Given the description of an element on the screen output the (x, y) to click on. 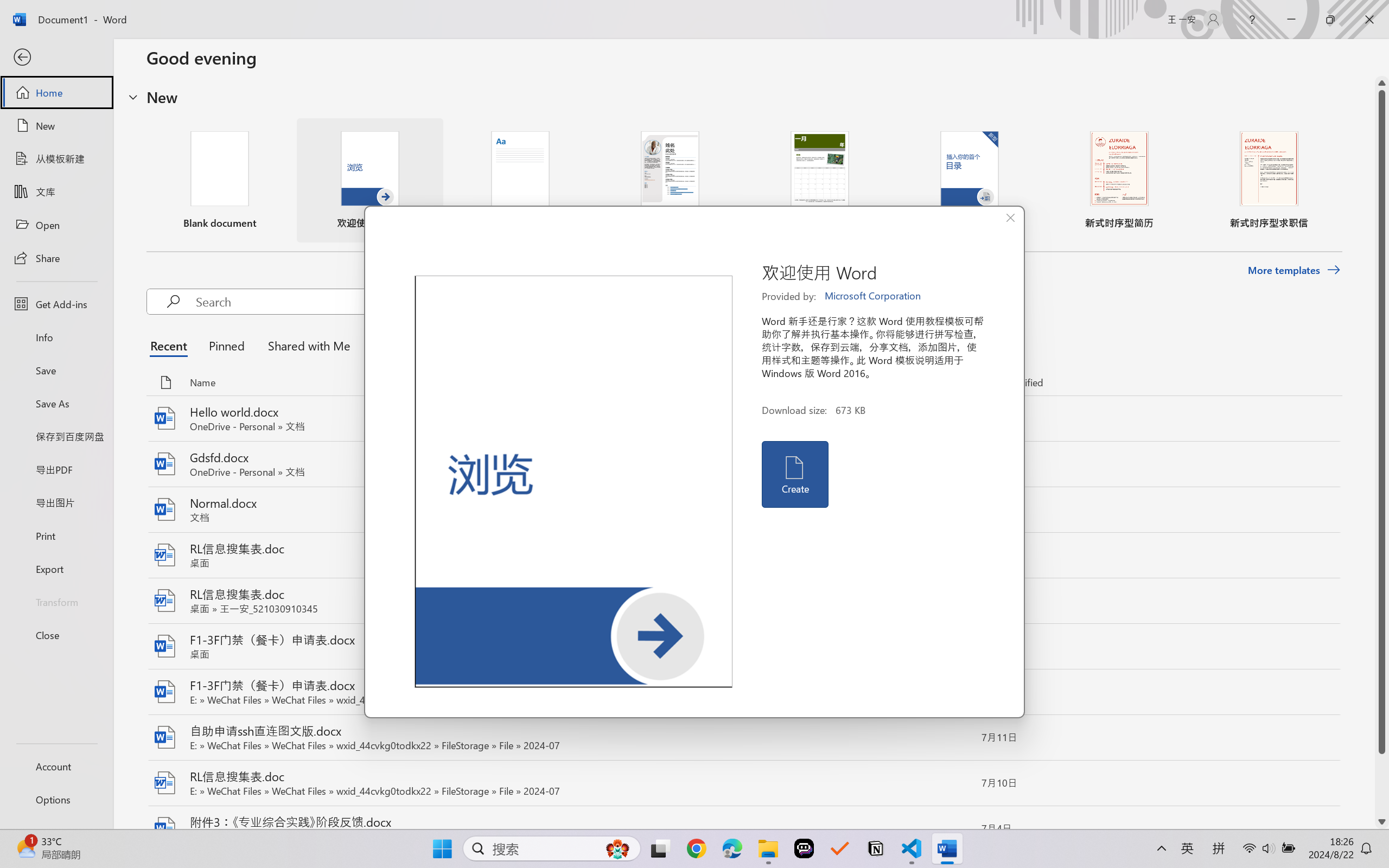
Print (56, 535)
Gdsfd.docx (743, 463)
Transform (56, 601)
Export (56, 568)
Blank document (219, 180)
Options (56, 798)
Line up (1382, 83)
New (56, 125)
